Given the description of an element on the screen output the (x, y) to click on. 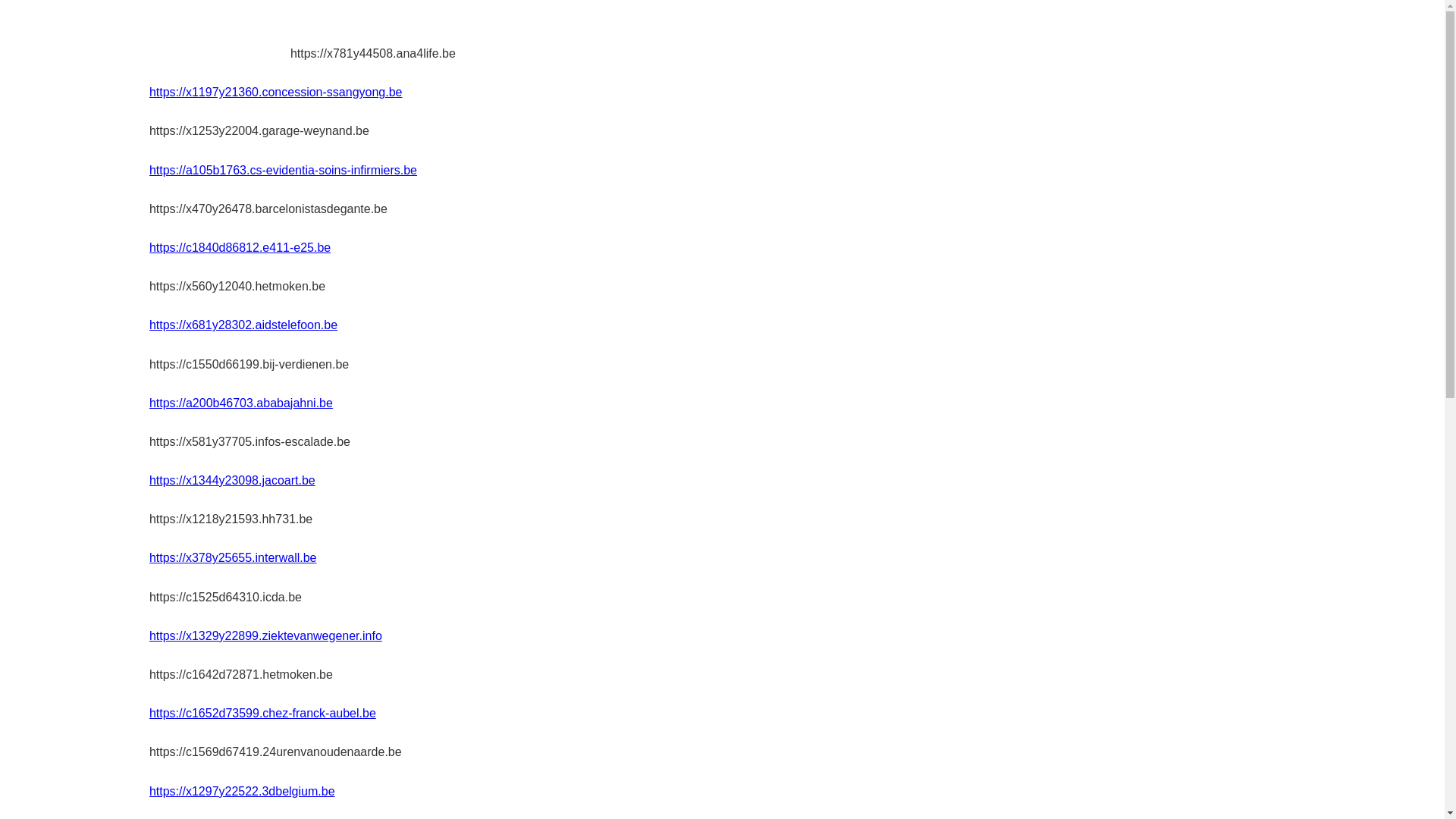
https://x1297y22522.3dbelgium.be Element type: text (242, 790)
bistro144.be Element type: text (219, 34)
https://x378y25655.interwall.be Element type: text (232, 557)
https://x1329y22899.ziektevanwegener.info Element type: text (265, 635)
https://a200b46703.ababajahni.be Element type: text (240, 402)
https://c1652d73599.chez-franck-aubel.be Element type: text (262, 712)
https://x1197y21360.concession-ssangyong.be Element type: text (275, 91)
https://a105b1763.cs-evidentia-soins-infirmiers.be Element type: text (283, 169)
https://c1840d86812.e411-e25.be Element type: text (239, 247)
https://x1344y23098.jacoart.be Element type: text (232, 479)
https://x681y28302.aidstelefoon.be Element type: text (243, 324)
